Given the description of an element on the screen output the (x, y) to click on. 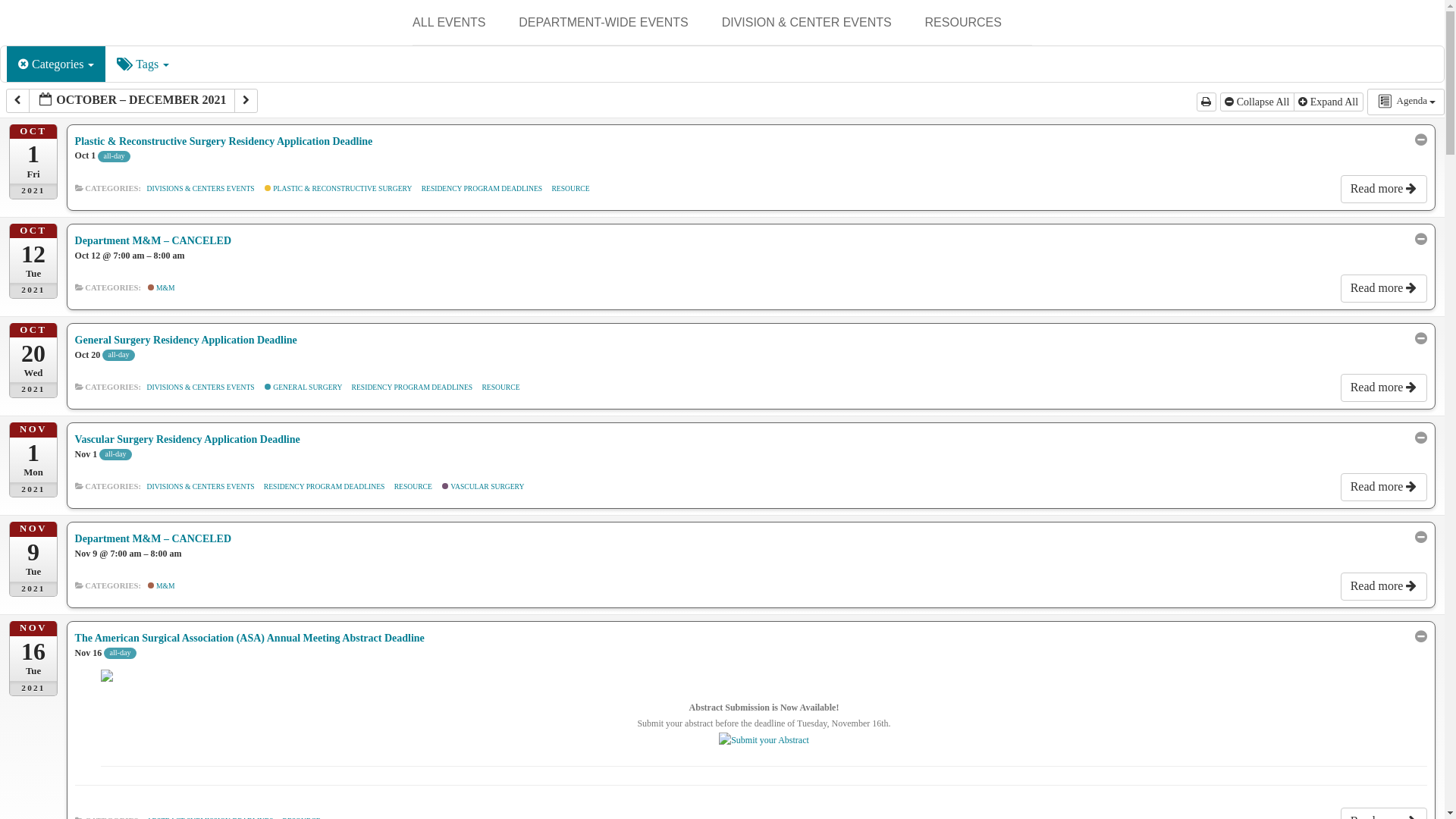
Categories (55, 63)
SURGERY GRAND ROUNDS (593, 61)
ALL EVENTS (448, 22)
ABDOMINAL TRANSPLANTATION (797, 72)
RESOURCES (962, 22)
DEPARTMENT-WIDE EVENTS (602, 22)
Clear category filter (24, 63)
